Given the description of an element on the screen output the (x, y) to click on. 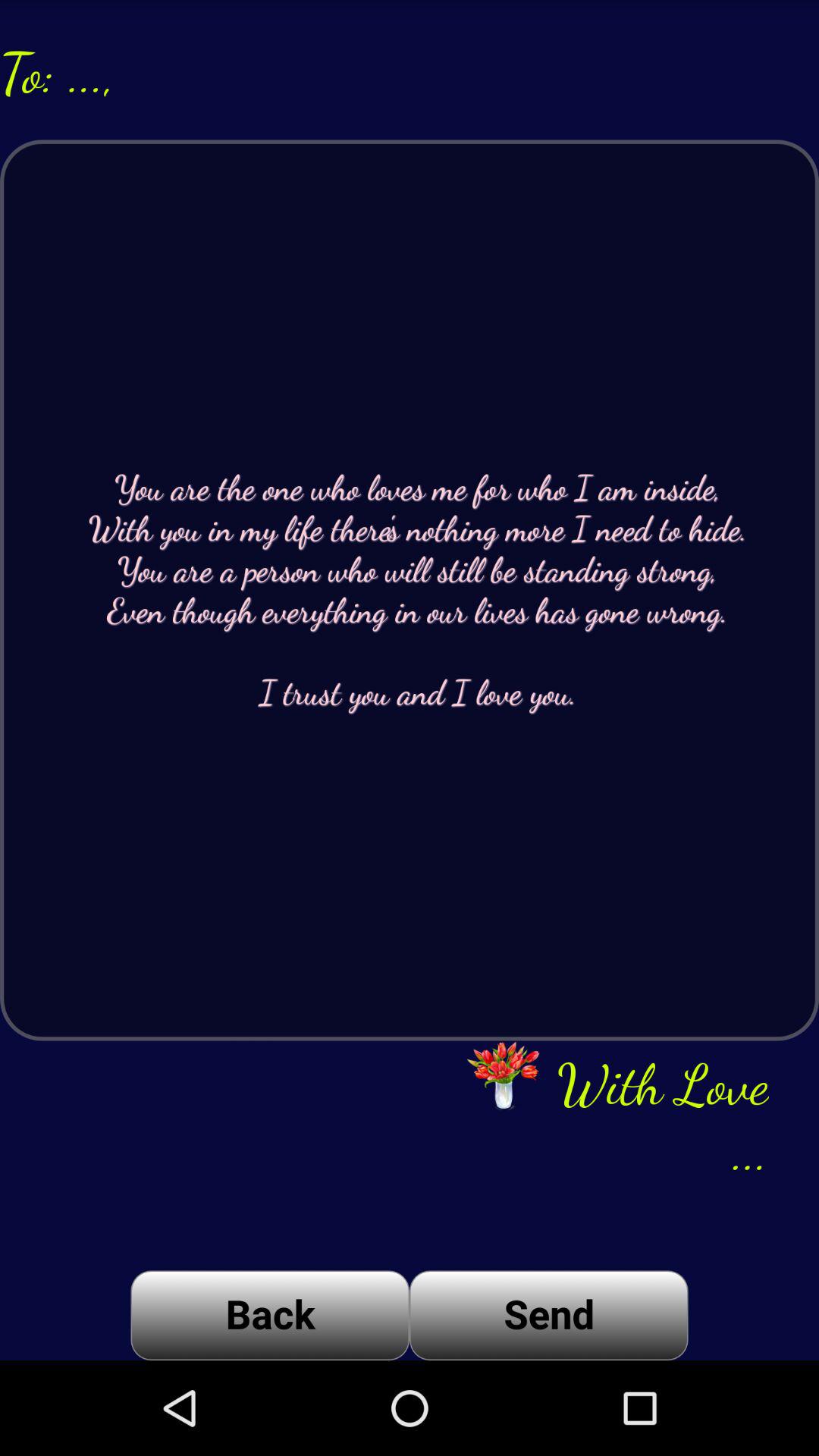
launch app below you are the (269, 1315)
